Given the description of an element on the screen output the (x, y) to click on. 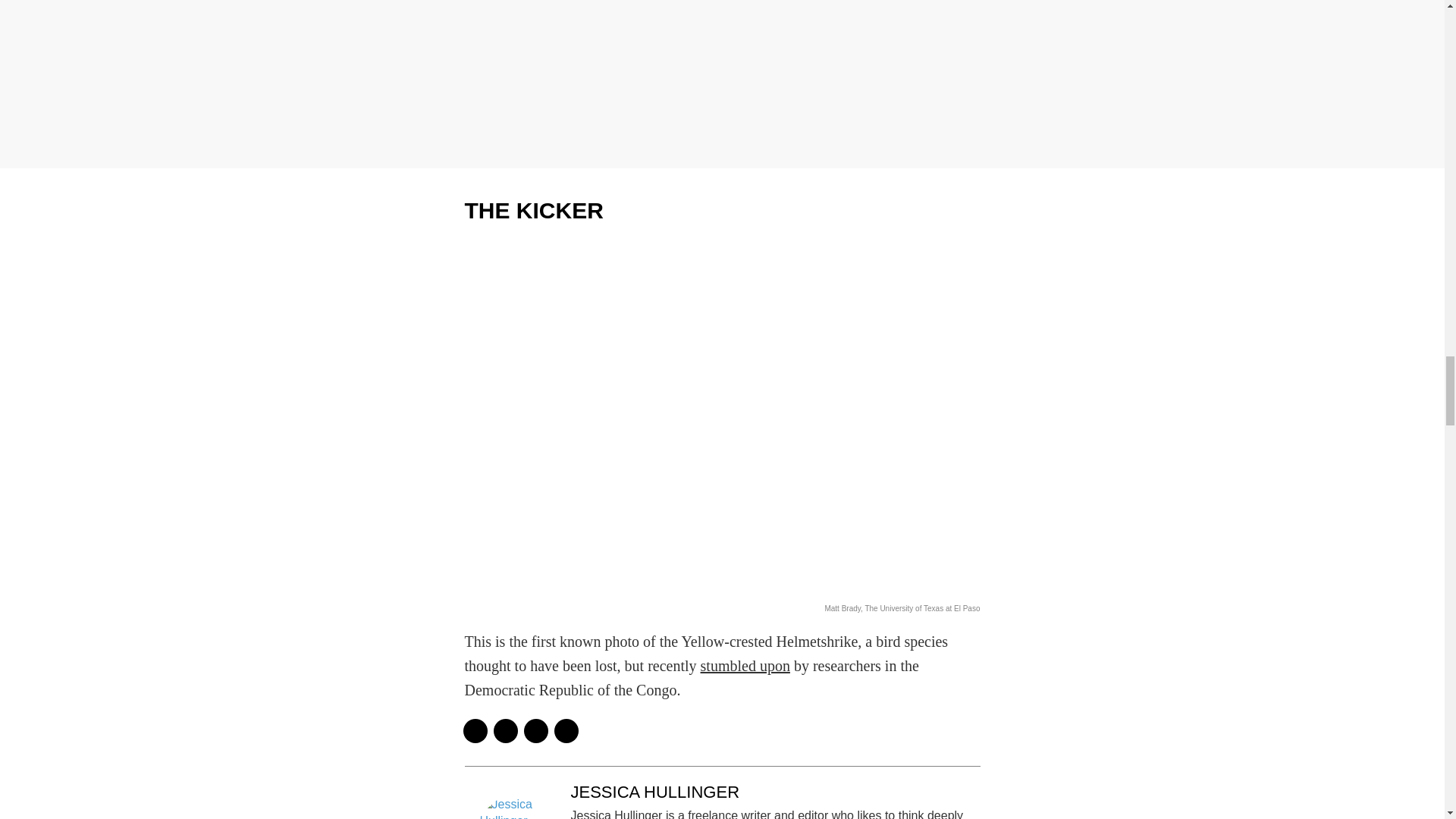
Copy this link to clipboard (565, 730)
